Given the description of an element on the screen output the (x, y) to click on. 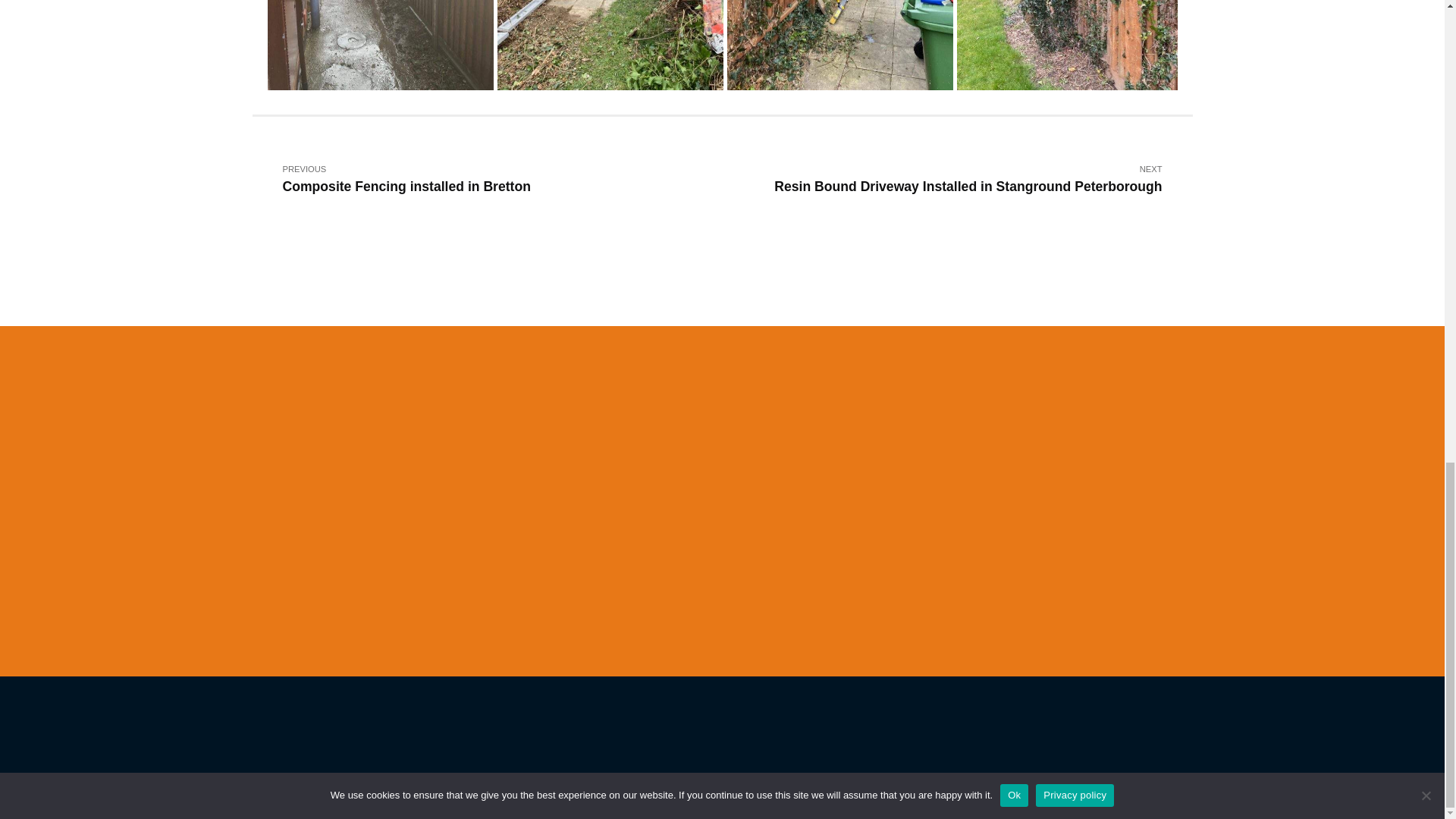
Old fencing being taken down in Peterborough (841, 47)
New fencing being installed in Peterborough (611, 47)
New Closeboard fencing panels installed in Peterborough (381, 47)
Old fencing with ivy that needed taking down (1071, 47)
